Given the description of an element on the screen output the (x, y) to click on. 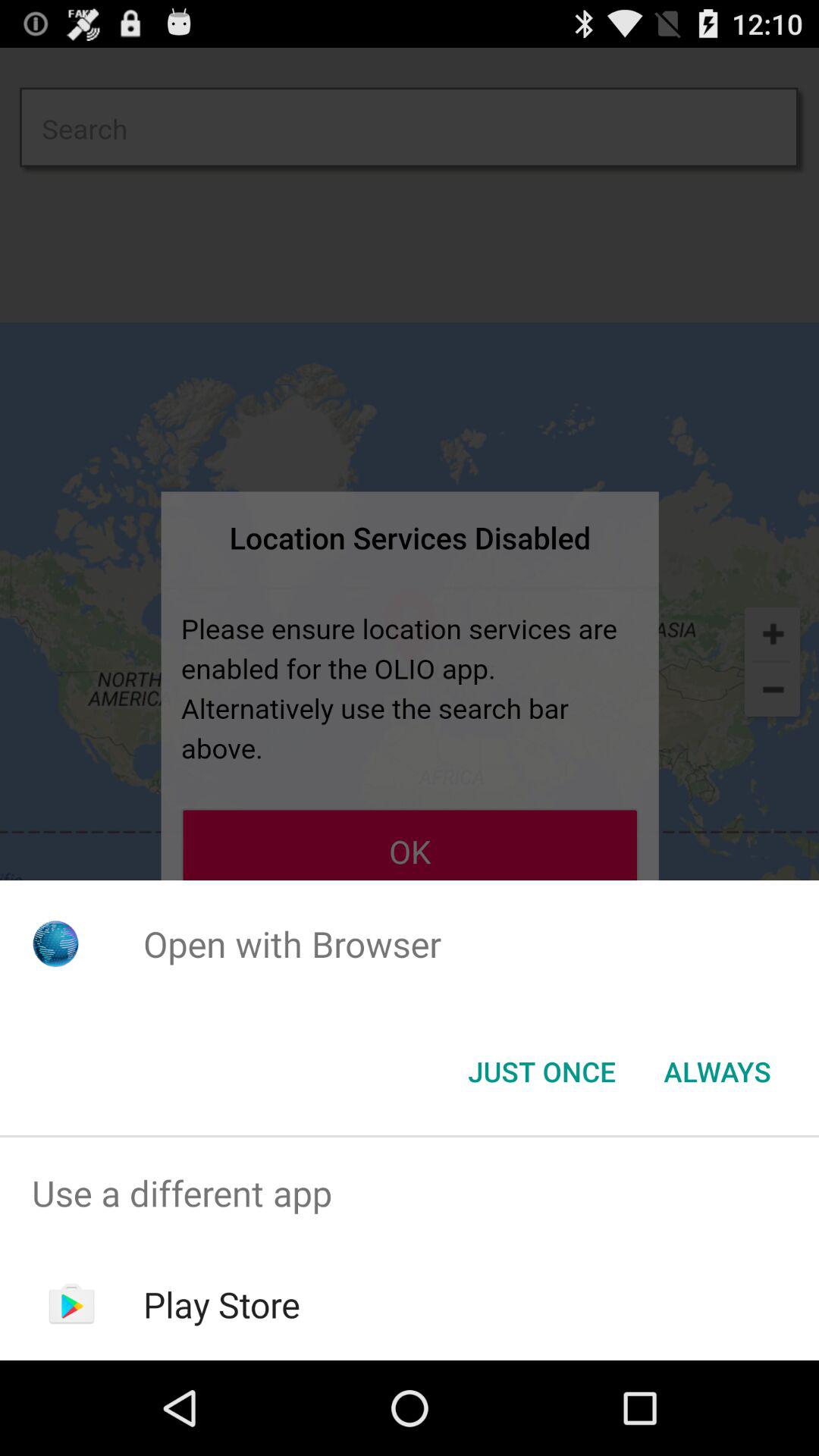
turn on icon next to always icon (541, 1071)
